Given the description of an element on the screen output the (x, y) to click on. 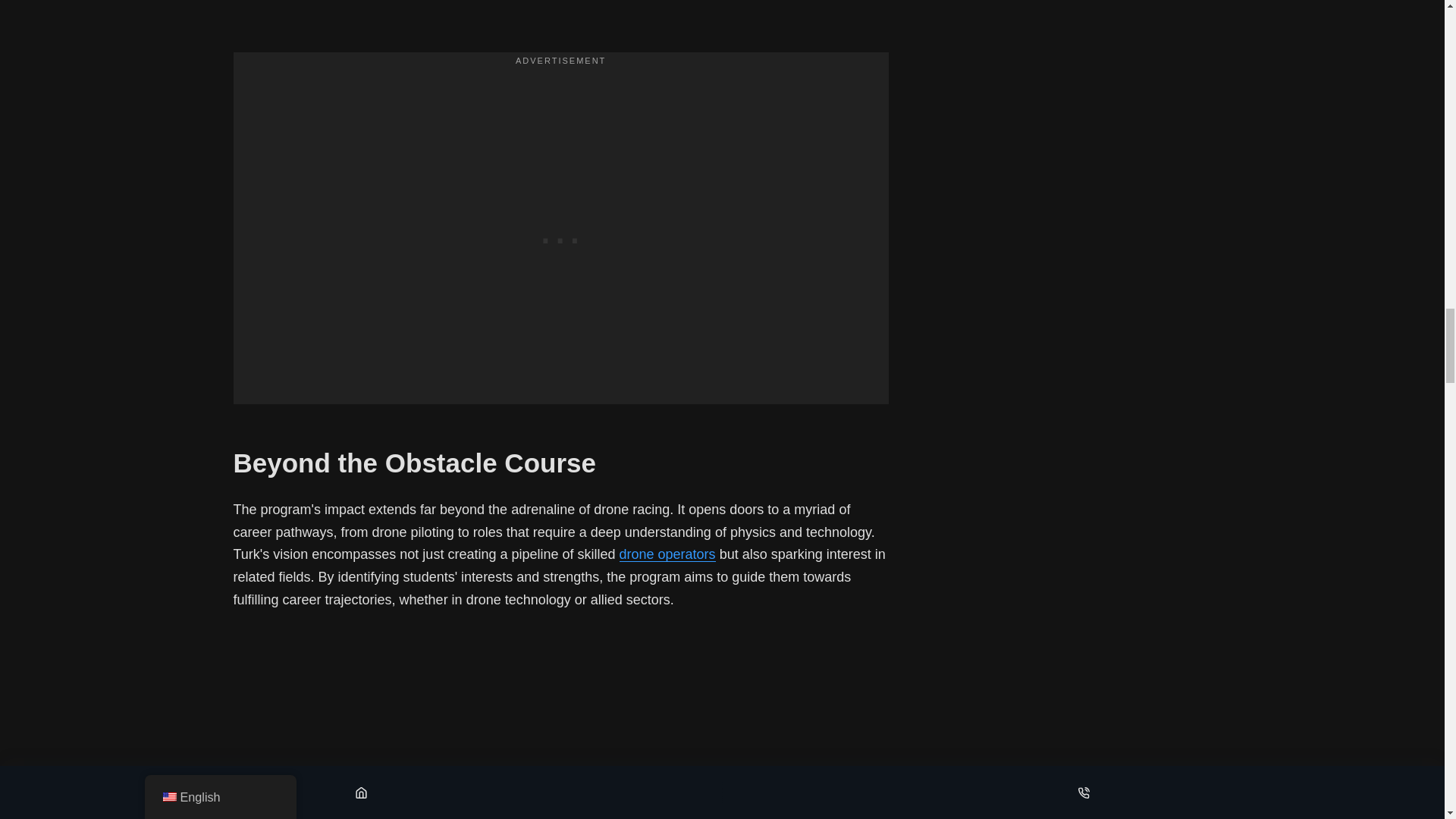
Pilot Institute (668, 554)
